Given the description of an element on the screen output the (x, y) to click on. 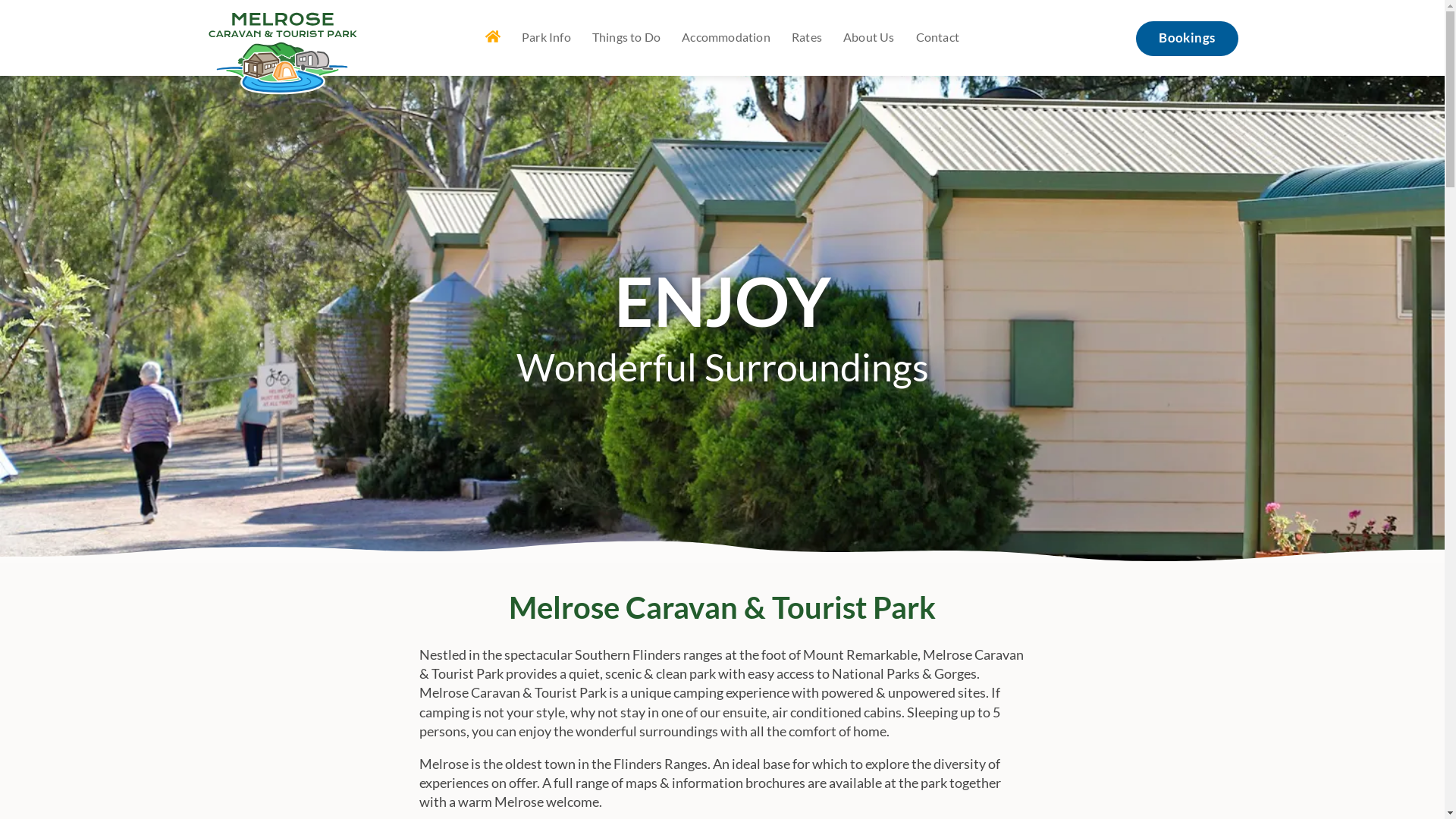
Bookings Element type: text (1186, 38)
Things to Do Element type: text (626, 36)
Rates Element type: text (806, 36)
Park Info Element type: text (546, 36)
About Us Element type: text (868, 36)
Contact Element type: text (937, 36)
Accommodation Element type: text (725, 36)
